Given the description of an element on the screen output the (x, y) to click on. 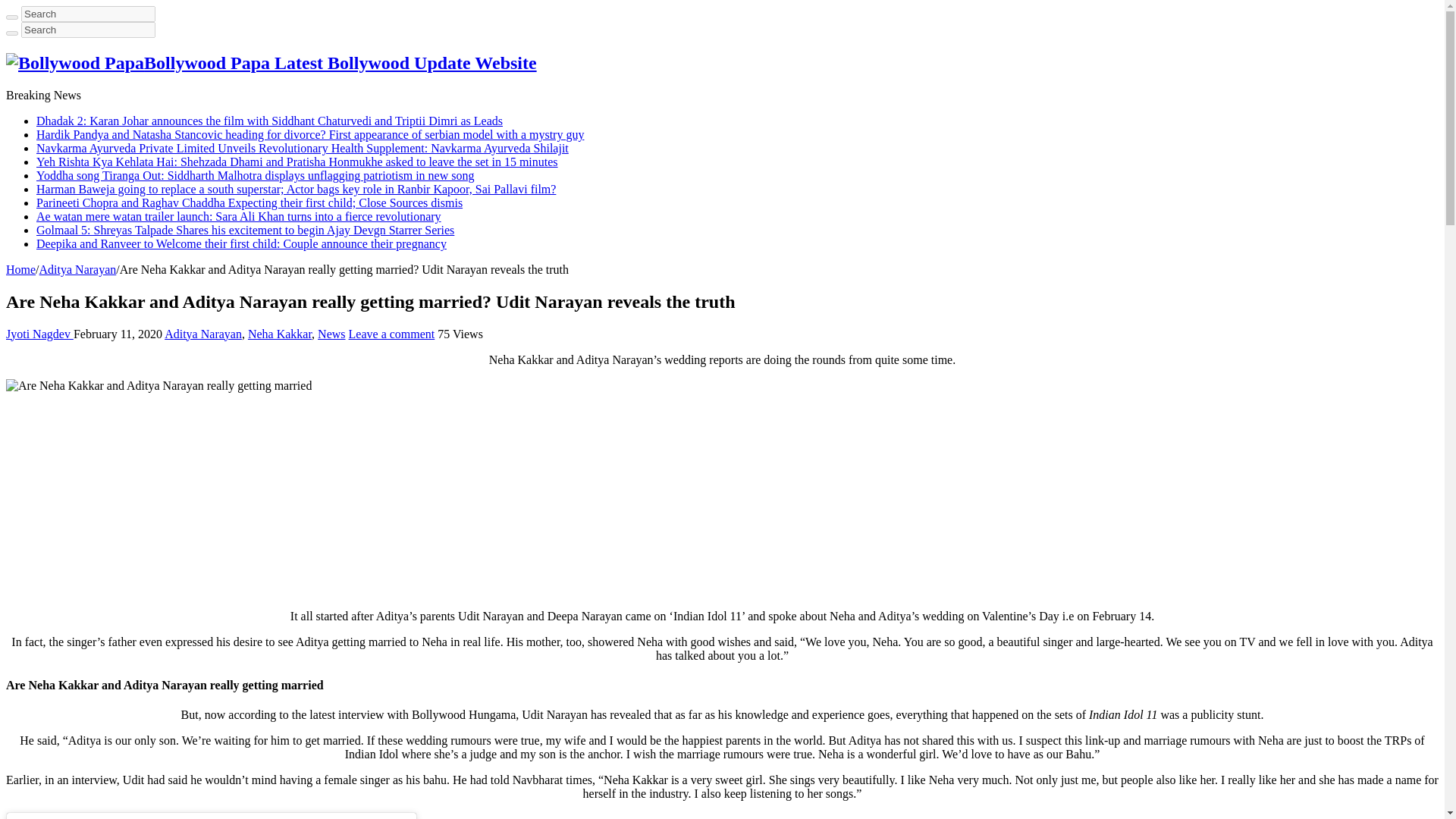
Search (88, 29)
Aditya Narayan (202, 333)
Home (19, 269)
Aditya Narayan (77, 269)
Search (88, 29)
